Given the description of an element on the screen output the (x, y) to click on. 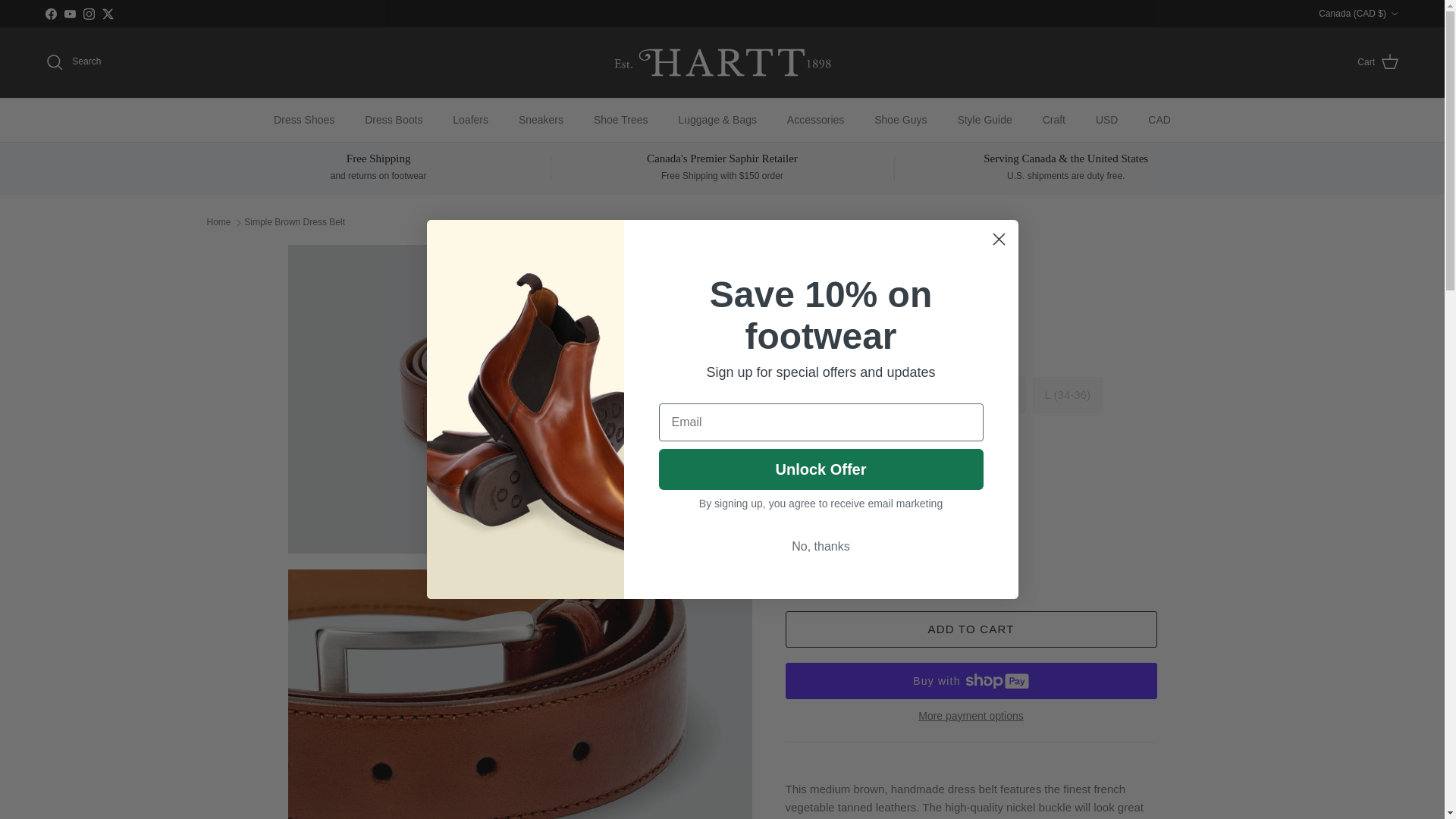
1 (847, 562)
The Hartt Shoe Company on Instagram (88, 12)
Sold out (1067, 394)
Dress Boots (392, 119)
USD (1106, 119)
The Hartt Shoe Company on YouTube (69, 12)
Shoe Trees (620, 119)
Shoe Guys (900, 119)
Facebook (50, 12)
Style Guide (984, 119)
Loafers (470, 119)
Accessories (815, 119)
CAD (1159, 119)
Sold out (988, 394)
Search (72, 62)
